Given the description of an element on the screen output the (x, y) to click on. 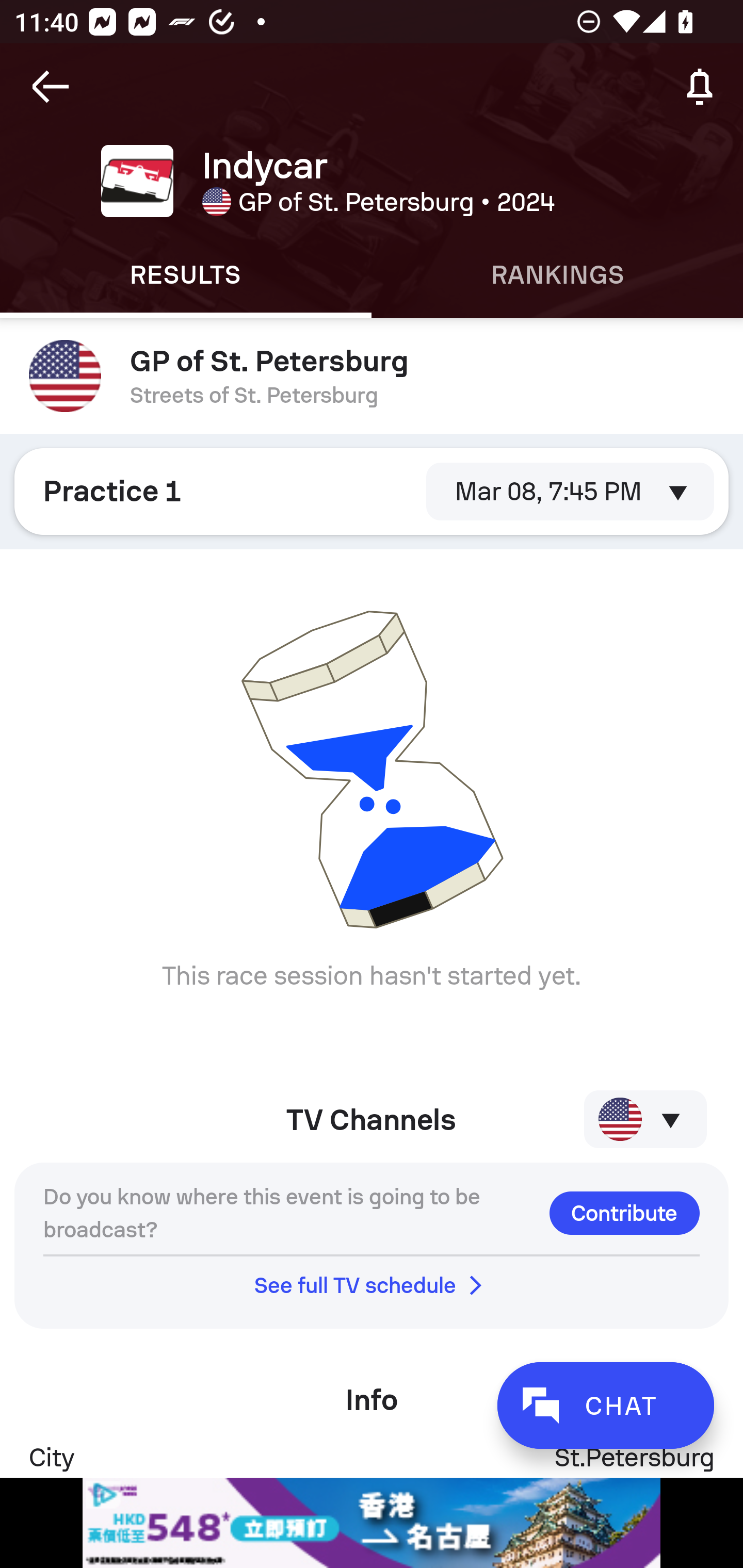
Navigate up (50, 86)
Rankings RANKINGS (557, 275)
Practice 1 Mar 08, 7:45 PM (371, 491)
Mar 08, 7:45 PM (570, 491)
Contribute (624, 1212)
See full TV schedule (371, 1284)
CHAT (605, 1405)
ysfecx5i_320x50 (371, 1522)
